Given the description of an element on the screen output the (x, y) to click on. 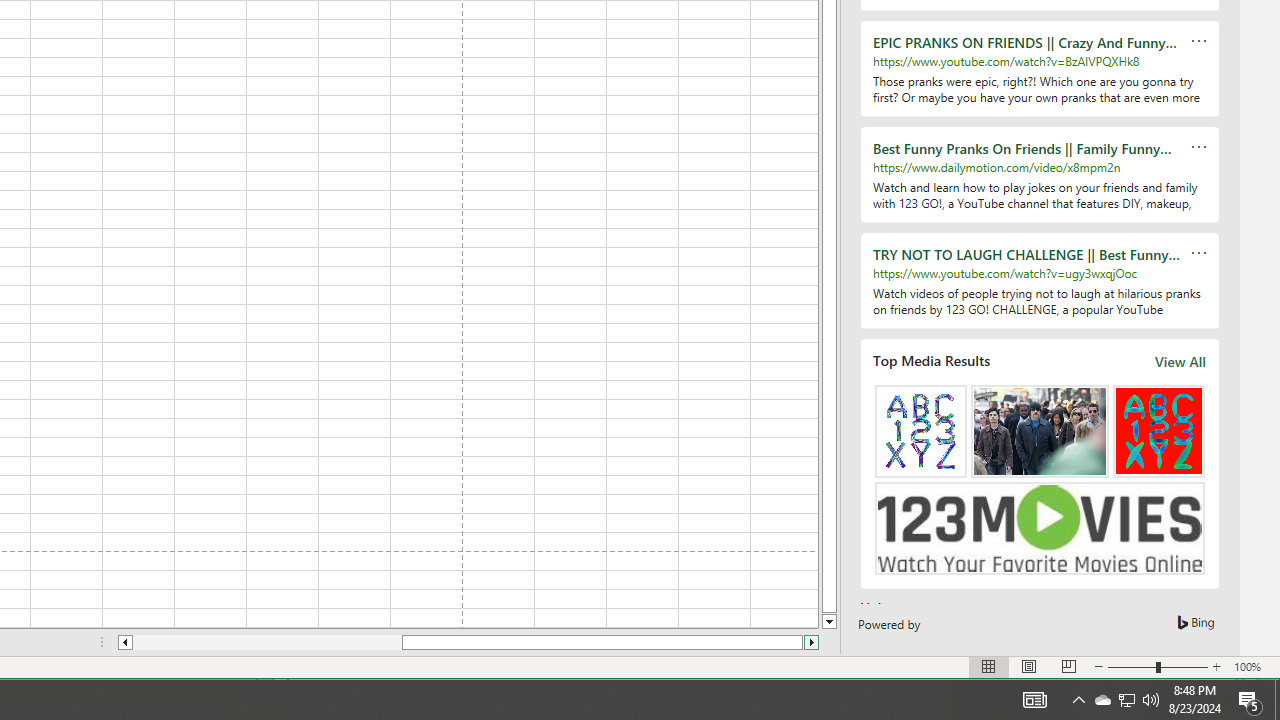
Zoom Out (1131, 667)
Class: NetUIScrollBar (468, 642)
Line down (829, 622)
Page Break Preview (1069, 667)
Notification Chevron (1078, 699)
